Given the description of an element on the screen output the (x, y) to click on. 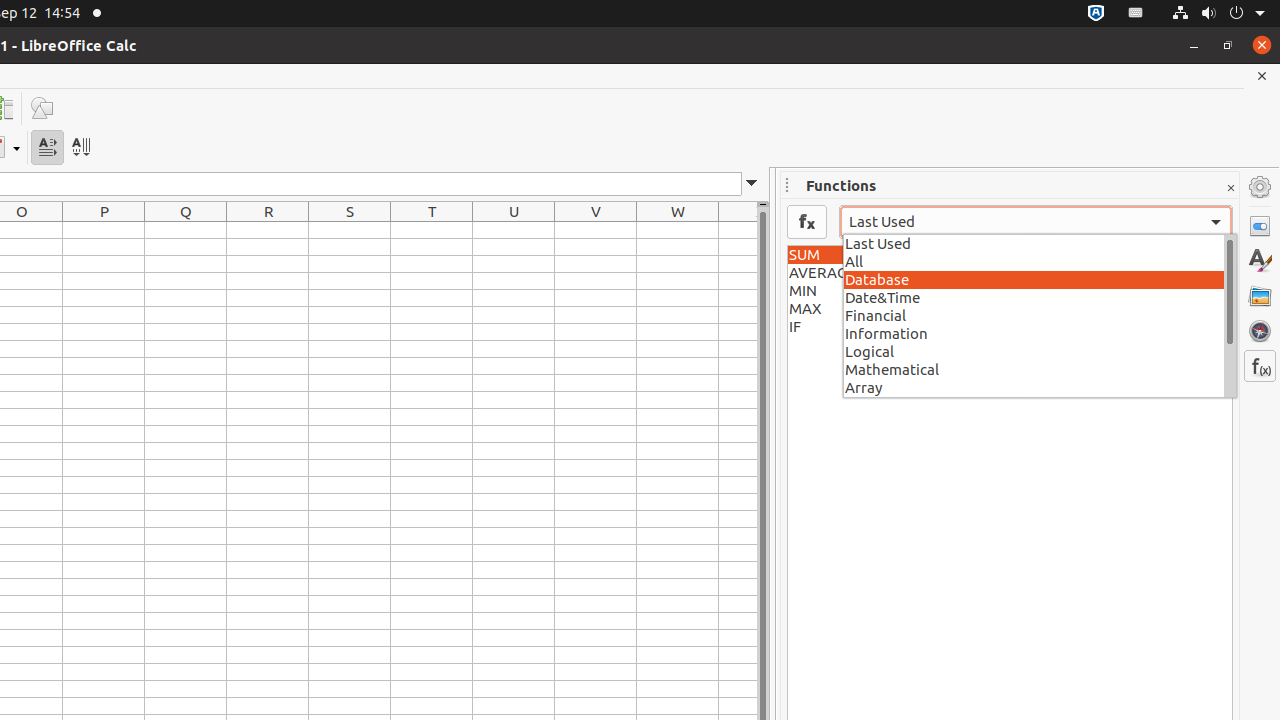
Logical Element type: list-item (1040, 351)
Text direction from left to right Element type: toggle-button (47, 147)
Gallery Element type: radio-button (1260, 296)
S1 Element type: table-cell (350, 230)
MIN Element type: list-item (1010, 291)
